Given the description of an element on the screen output the (x, y) to click on. 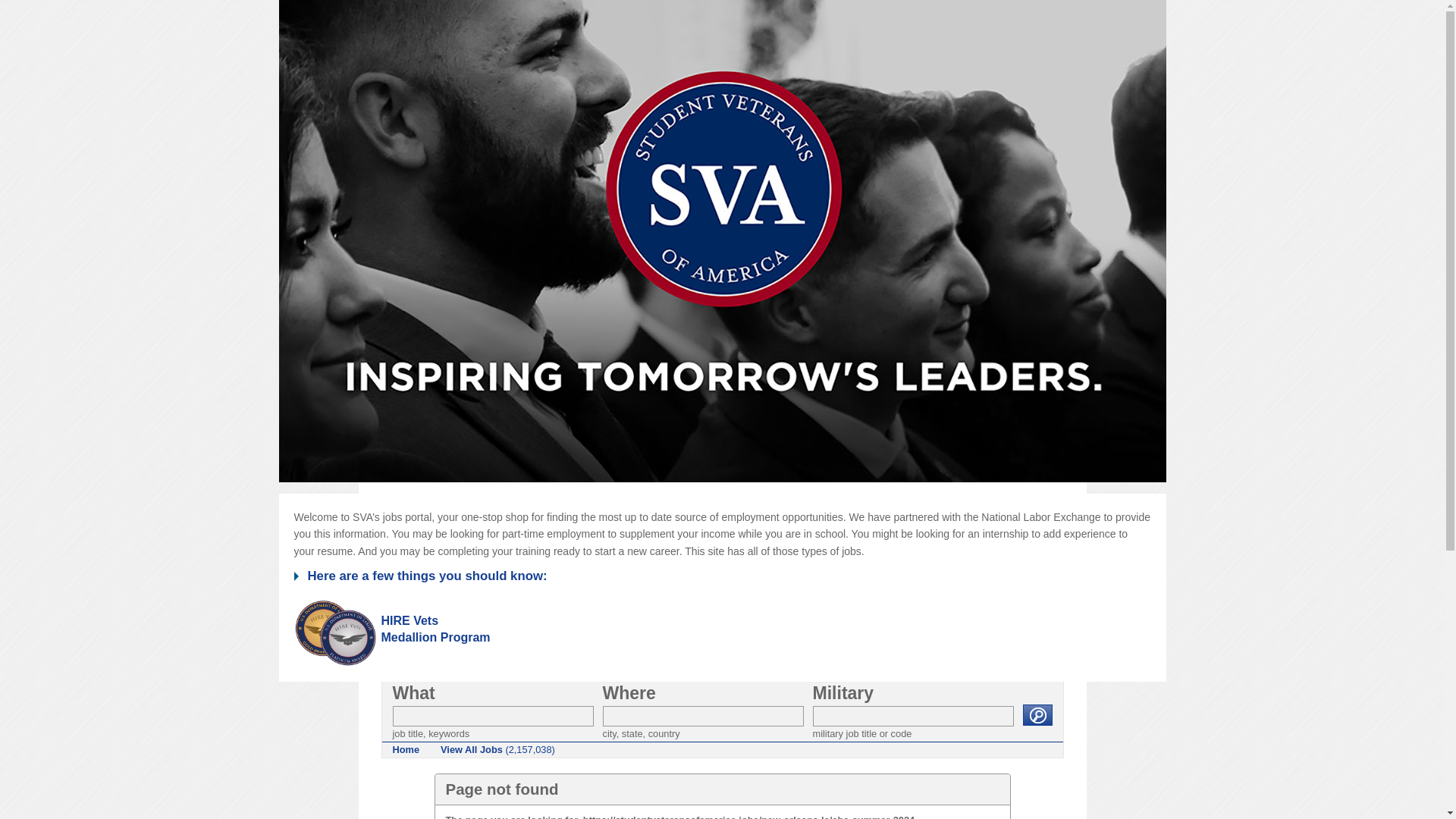
Submit Search (1036, 714)
Search MOC (433, 629)
Home (912, 715)
search (405, 749)
search (1036, 714)
Search Location (1036, 714)
Search Phrase (702, 715)
